Given the description of an element on the screen output the (x, y) to click on. 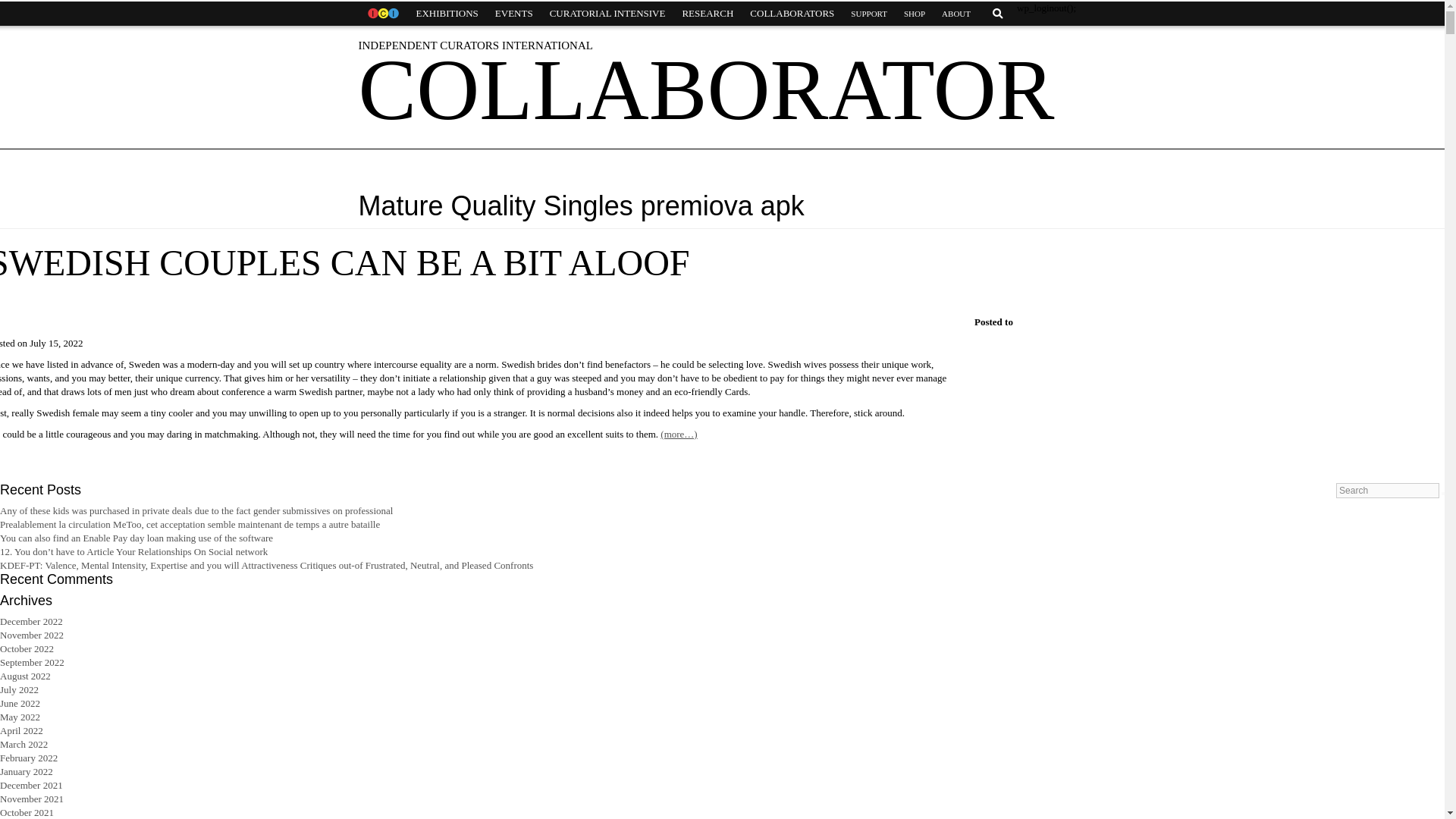
CURATORIAL INTENSIVE (607, 13)
COLLABORATORS (792, 13)
HOME (382, 13)
EXHIBITIONS (446, 13)
EVENTS (513, 13)
RESEARCH (706, 13)
